Given the description of an element on the screen output the (x, y) to click on. 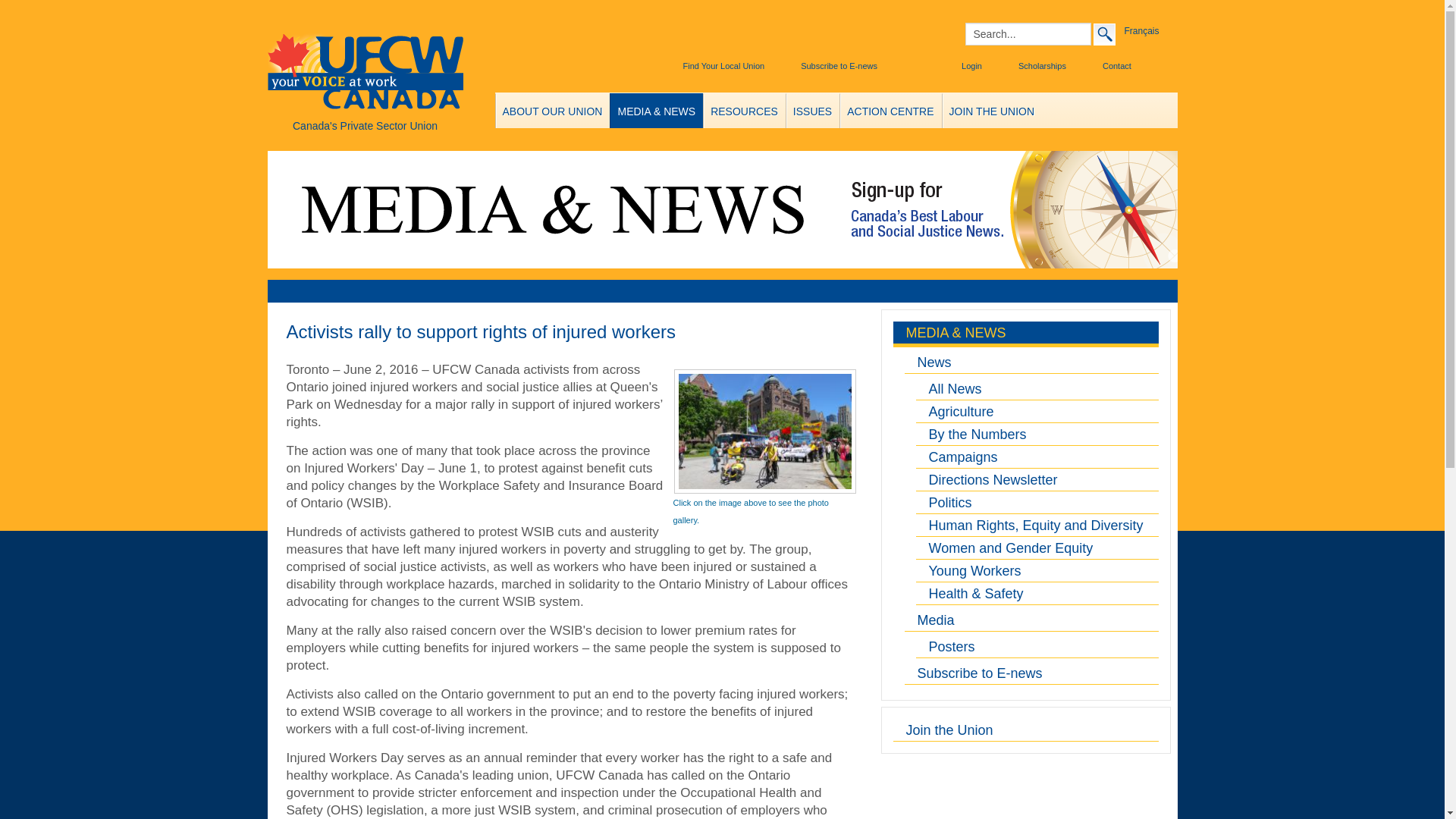
ACTION CENTRE (890, 110)
Find Your Local Union (716, 65)
By the Numbers (1036, 434)
UFCW Canada-Union Logo (364, 72)
Campaigns (1036, 456)
Activists rally to support rights of injured workers (481, 331)
ABOUT OUR UNION (553, 110)
Search (1104, 33)
Directions Newsletter (1036, 479)
News (1030, 362)
Politics (1036, 502)
Contact (1106, 65)
Human Rights, Equity and Diversity (1036, 525)
Women and Gender Equity (1036, 548)
Search... (1026, 33)
